Given the description of an element on the screen output the (x, y) to click on. 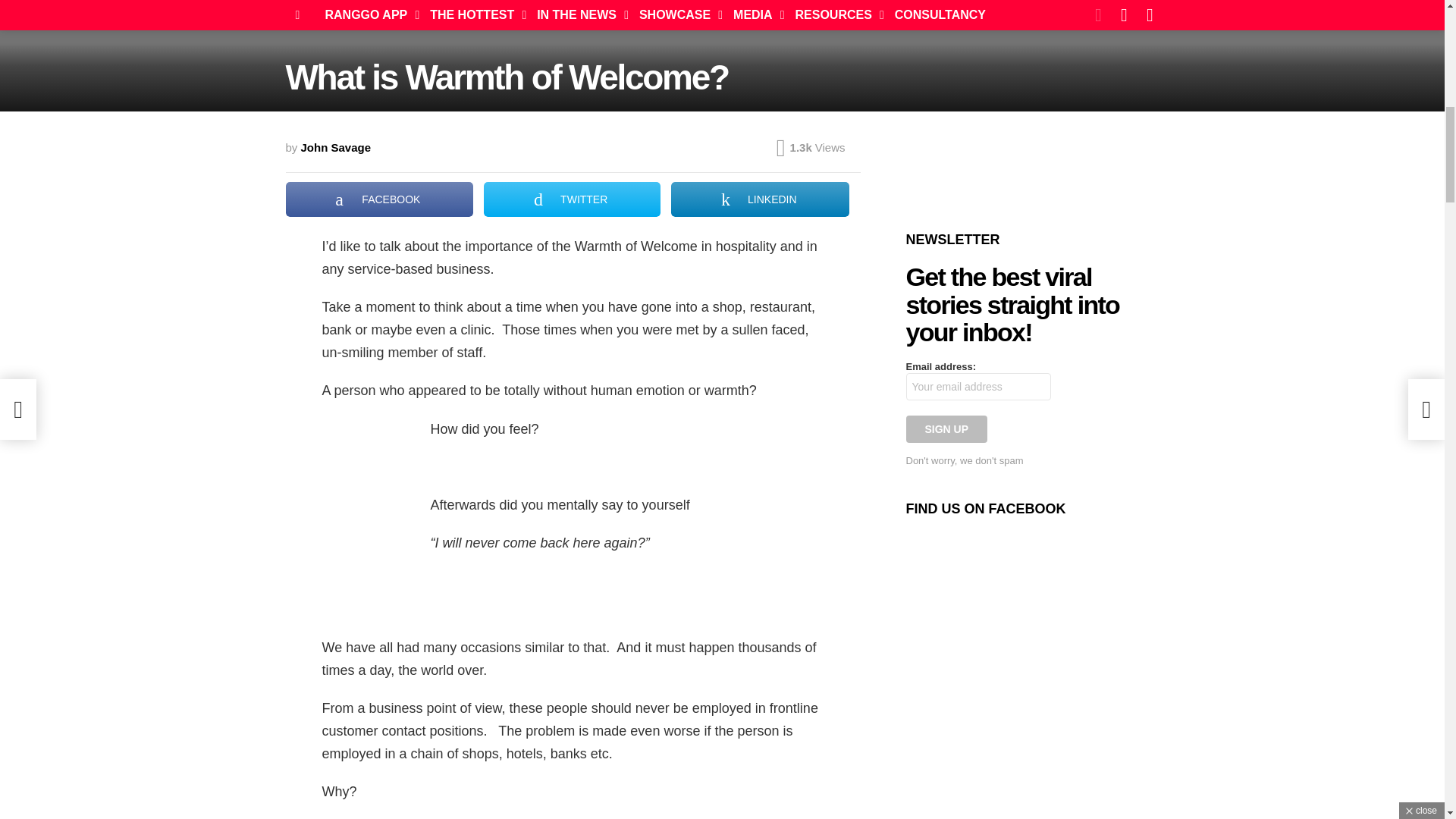
Share on Twitter (572, 199)
Share on LinkedIn (759, 199)
Posts by John Savage (336, 146)
Sign up (946, 429)
Share on Facebook (379, 199)
